Given the description of an element on the screen output the (x, y) to click on. 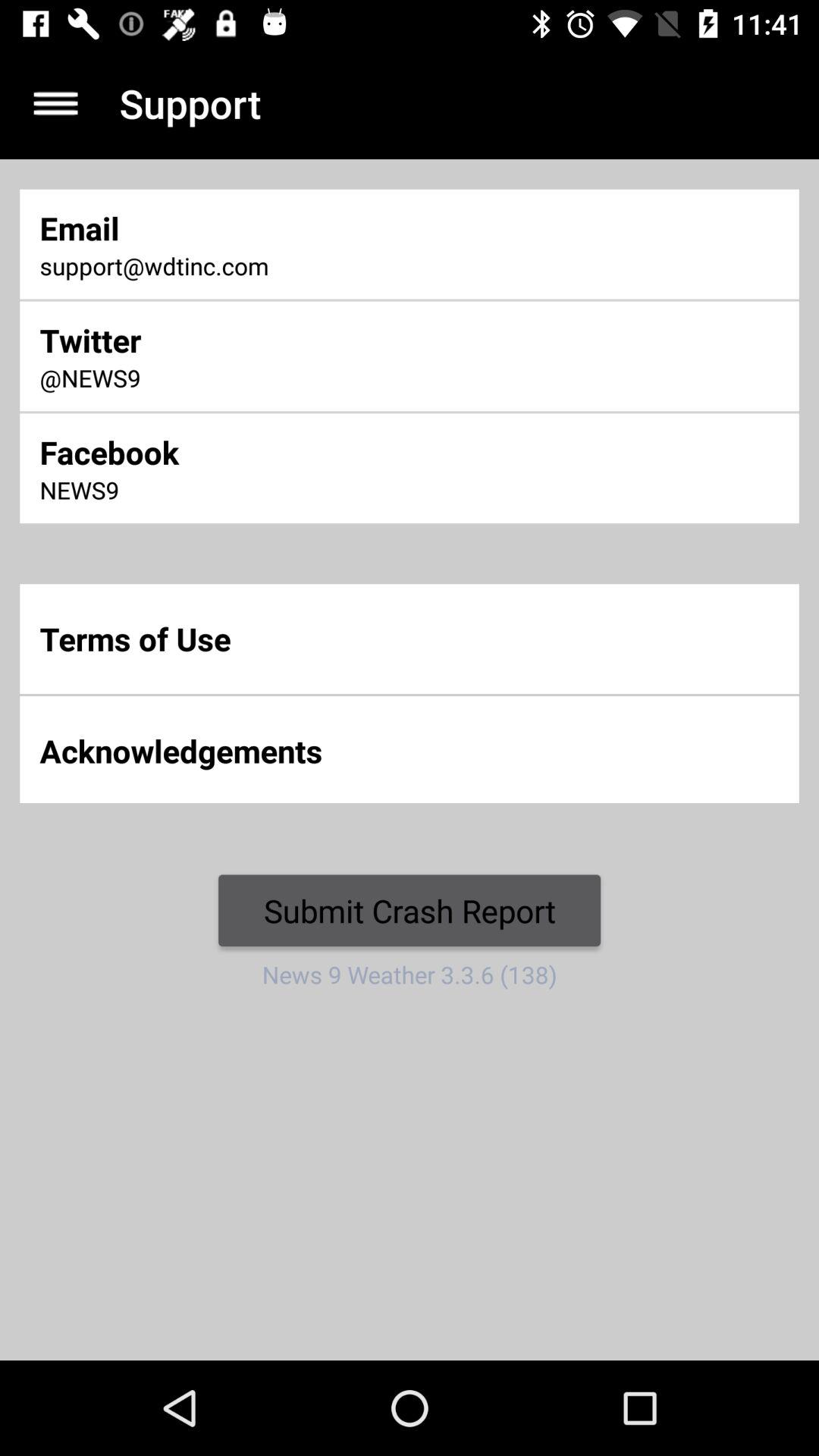
choose the icon above news 9 weather (409, 910)
